Given the description of an element on the screen output the (x, y) to click on. 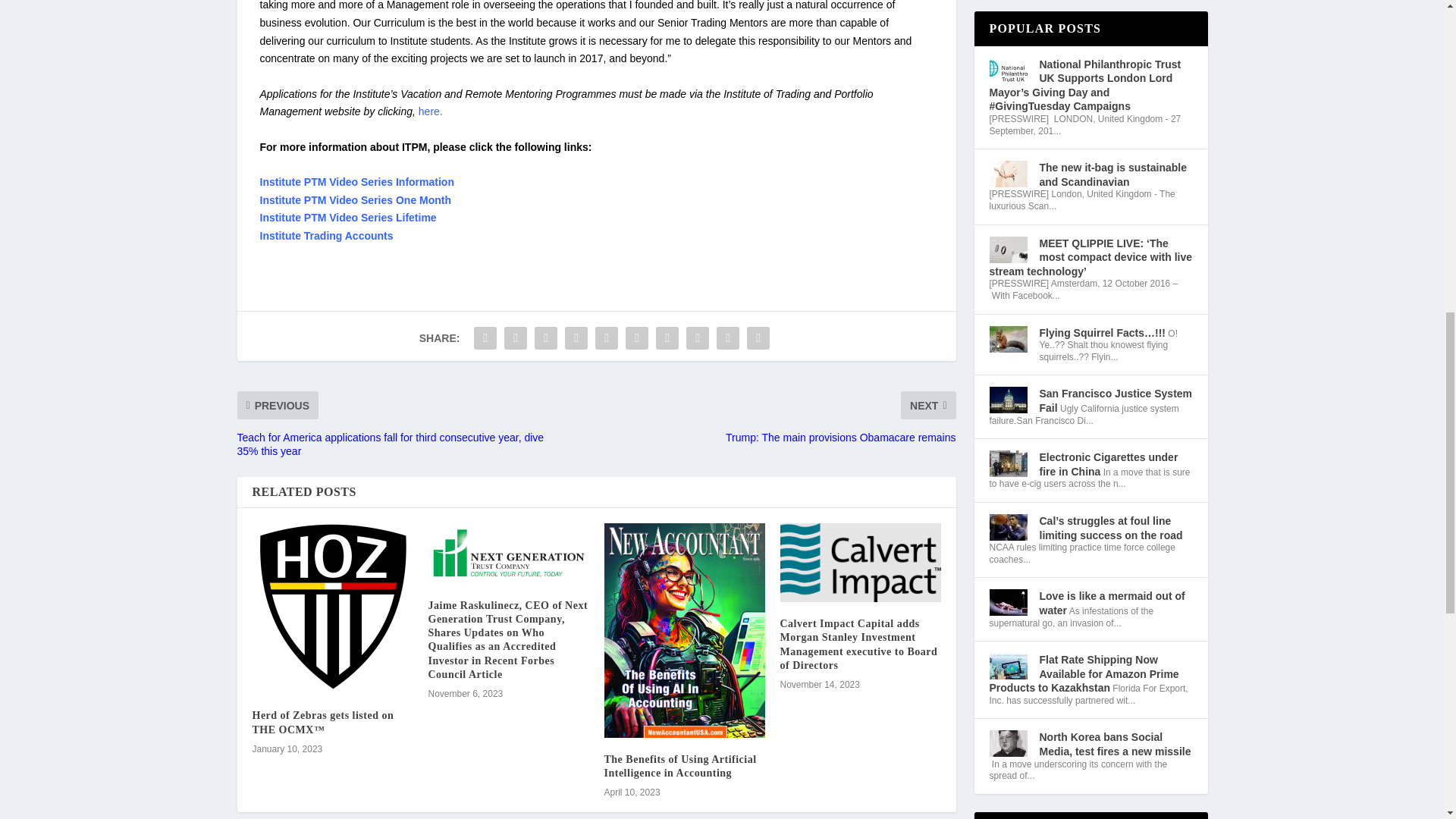
Institute PTM Video Series One Month (355, 200)
here (429, 111)
Institute Trading Accounts (326, 235)
Institute PTM Video Series Information (355, 182)
